Given the description of an element on the screen output the (x, y) to click on. 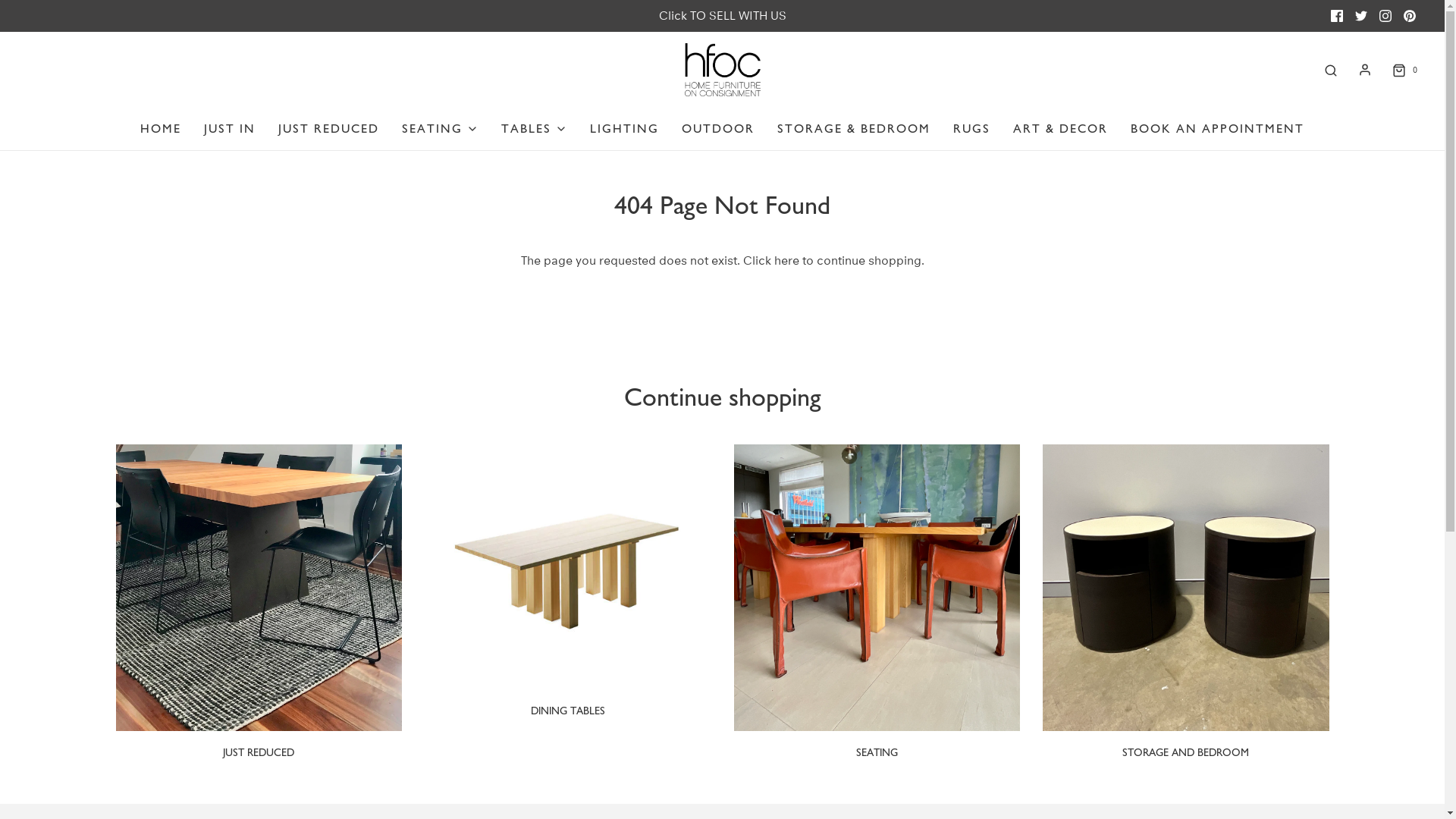
LIGHTING Element type: text (623, 128)
TABLES Element type: text (534, 128)
OUTDOOR Element type: text (717, 128)
here Element type: text (785, 260)
STORAGE & BEDROOM Element type: text (853, 128)
BOOK AN APPOINTMENT Element type: text (1217, 128)
Click TO SELL WITH US Element type: text (721, 15)
JUST REDUCED Element type: text (328, 128)
STORAGE AND BEDROOM Element type: text (1185, 752)
Pinterest icon Element type: text (1409, 15)
JUST REDUCED Element type: text (258, 752)
JUST IN Element type: text (229, 128)
SEATING Element type: text (439, 128)
Search Element type: hover (1330, 69)
Log in Element type: hover (1364, 69)
Facebook icon Element type: text (1336, 15)
0 Element type: text (1403, 69)
Twitter icon Element type: text (1361, 15)
Instagram icon Element type: text (1385, 15)
DINING TABLES Element type: text (567, 710)
HOME Element type: text (160, 128)
ART & DECOR Element type: text (1060, 128)
RUGS Element type: text (971, 128)
SEATING Element type: text (876, 752)
